Given the description of an element on the screen output the (x, y) to click on. 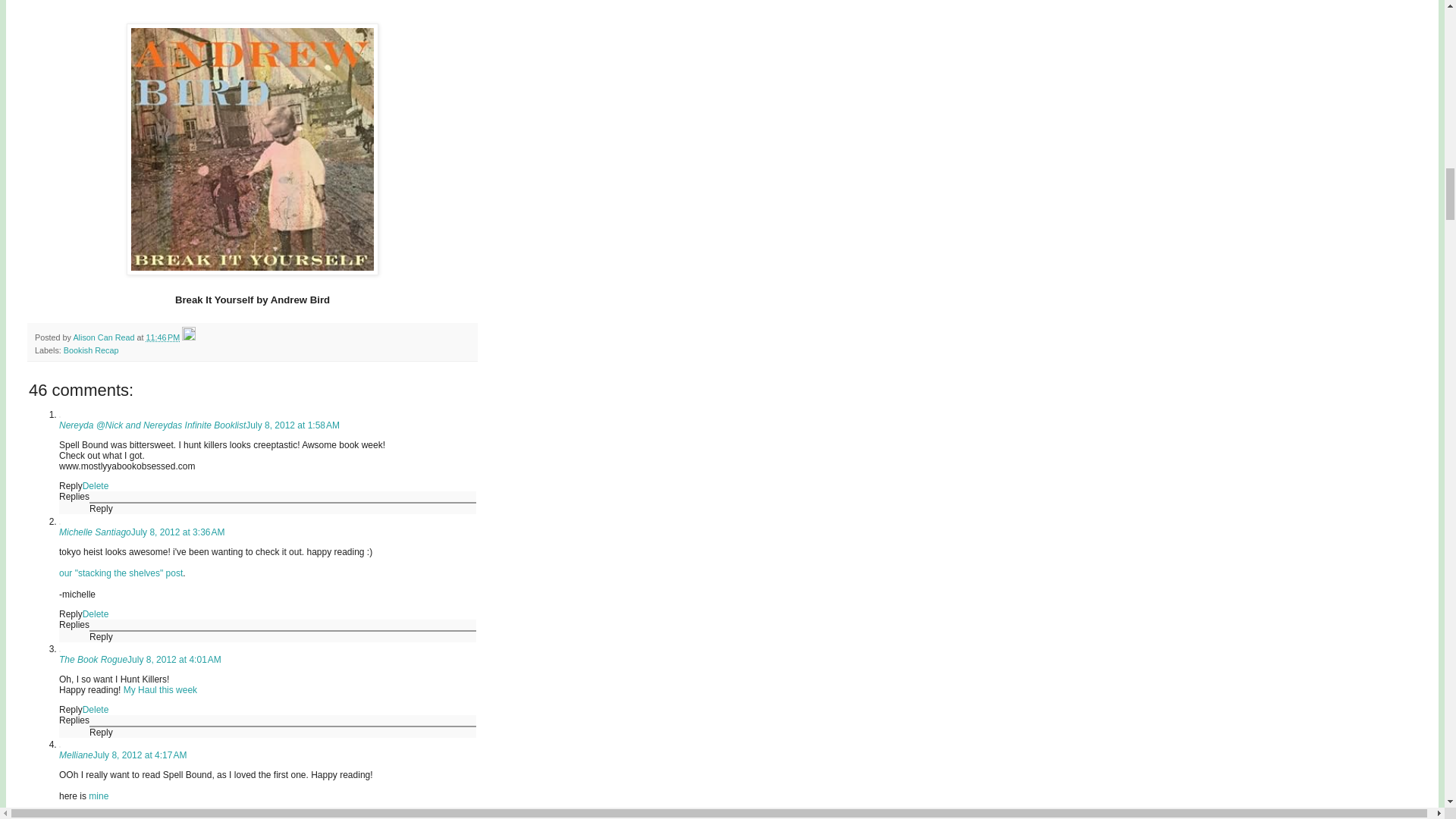
Michelle Santiago (95, 531)
Reply (70, 613)
our "stacking the shelves" post (121, 572)
Delete (95, 485)
Reply (100, 635)
Bookish Recap (91, 349)
Replies (73, 496)
author profile (104, 337)
Replies (73, 624)
Reply (100, 508)
Edit Post (188, 337)
Reply (70, 485)
permanent link (162, 337)
